Given the description of an element on the screen output the (x, y) to click on. 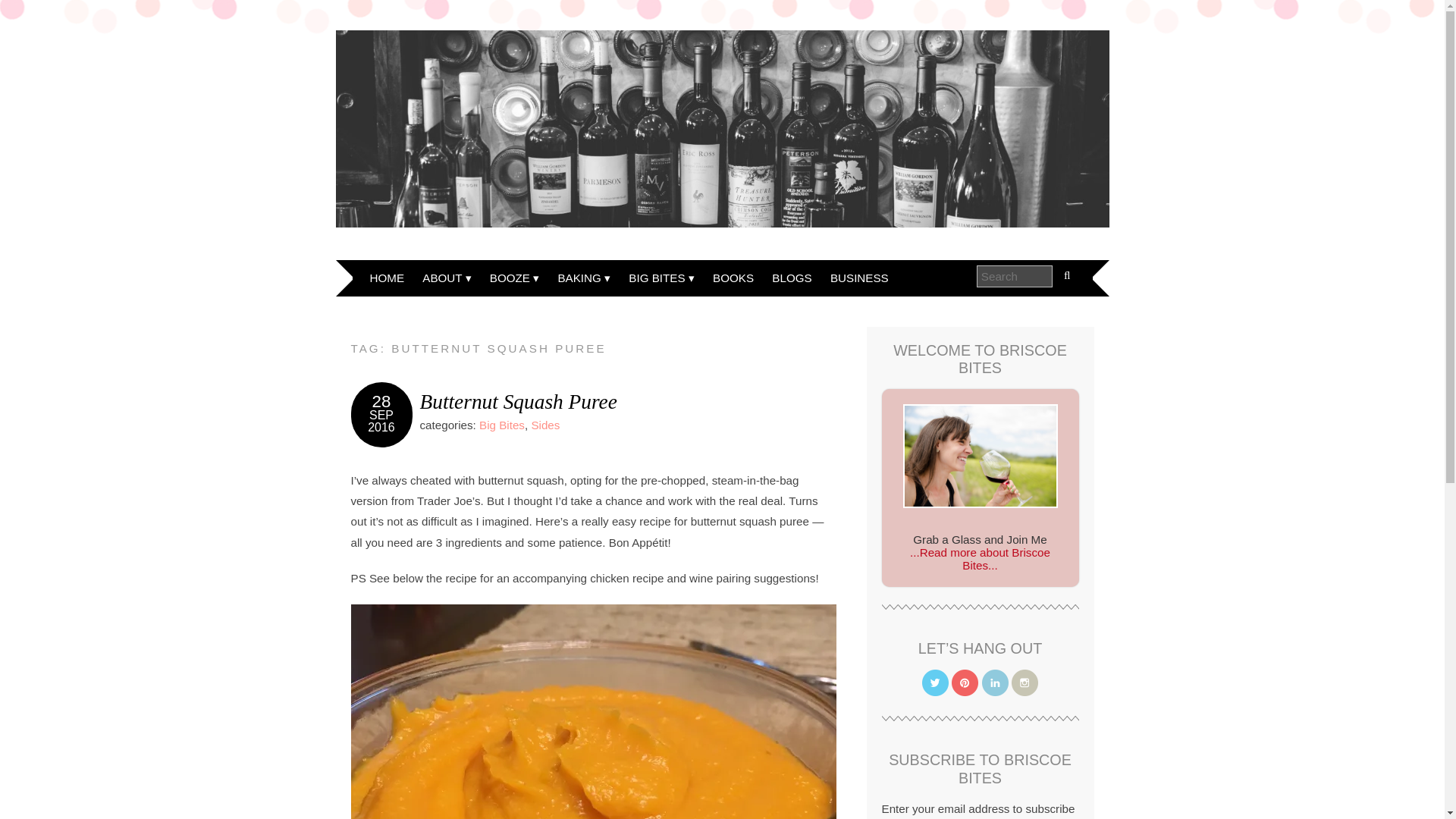
BOOKS (732, 277)
Pinterest (965, 682)
HOME (387, 277)
BUSINESS (859, 277)
Butternut Squash Puree (518, 401)
BLOGS (791, 277)
BOOZE (514, 277)
LinkedIn (995, 682)
ABOUT (446, 277)
